Given the description of an element on the screen output the (x, y) to click on. 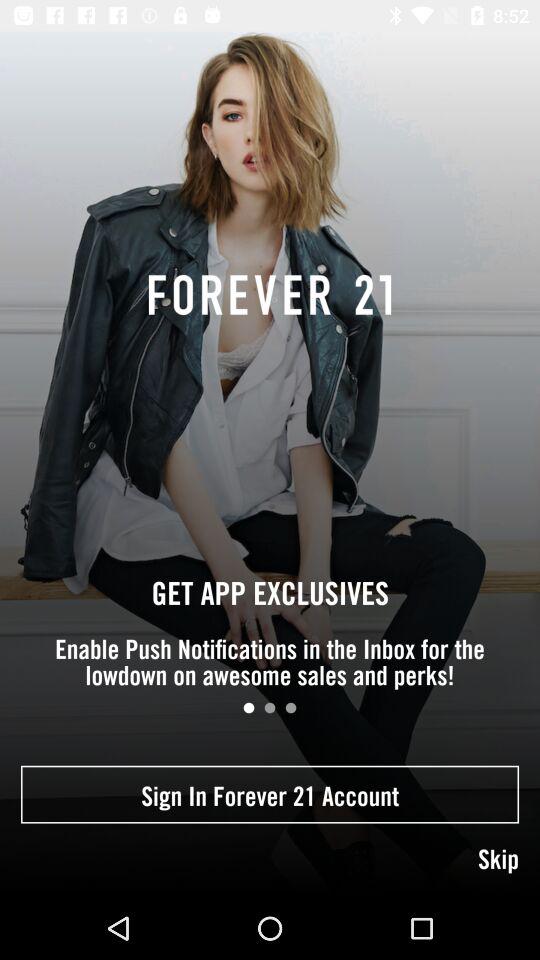
select icon below enable push notifications item (248, 707)
